Given the description of an element on the screen output the (x, y) to click on. 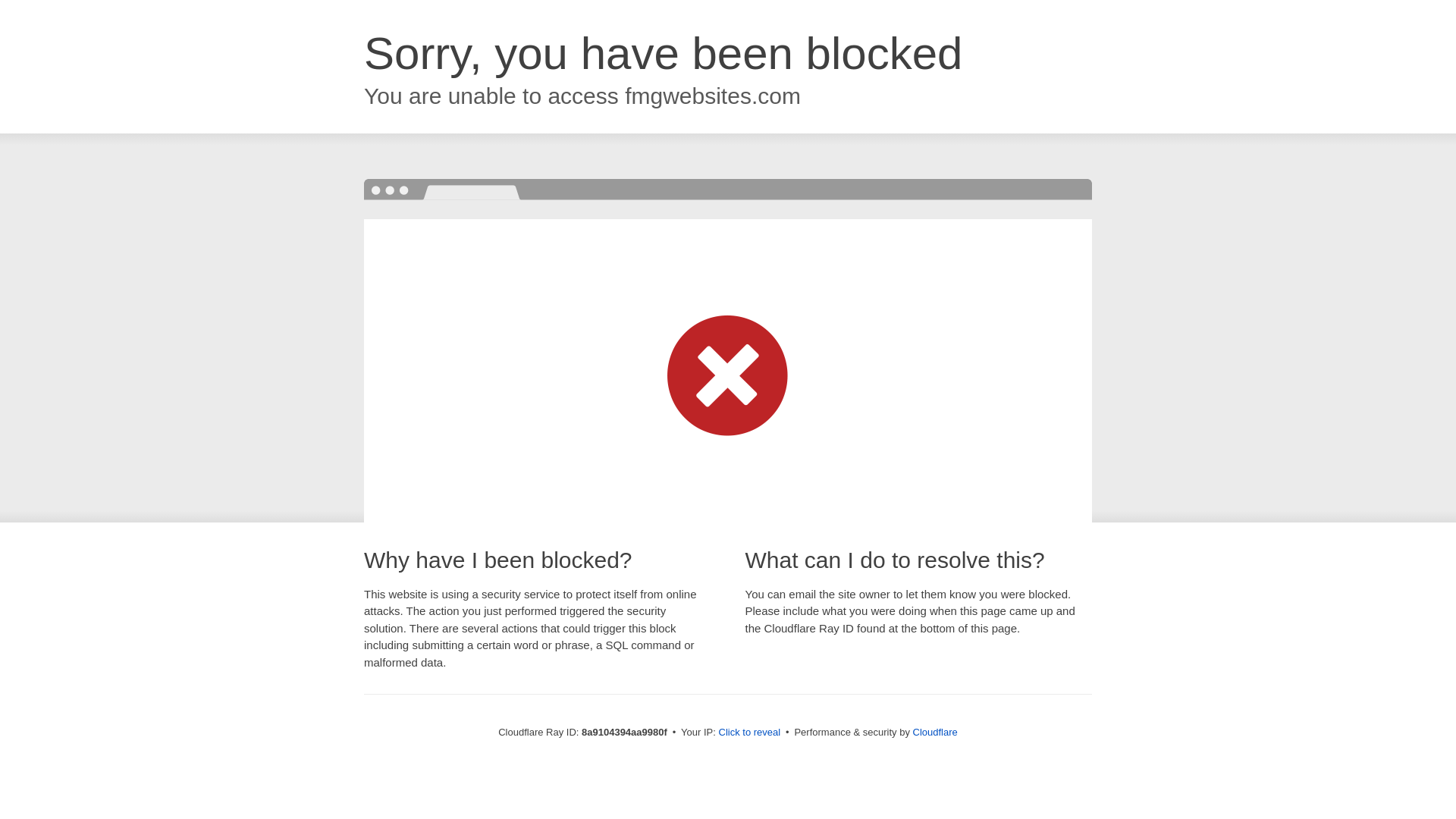
Cloudflare (935, 731)
Click to reveal (749, 732)
